Given the description of an element on the screen output the (x, y) to click on. 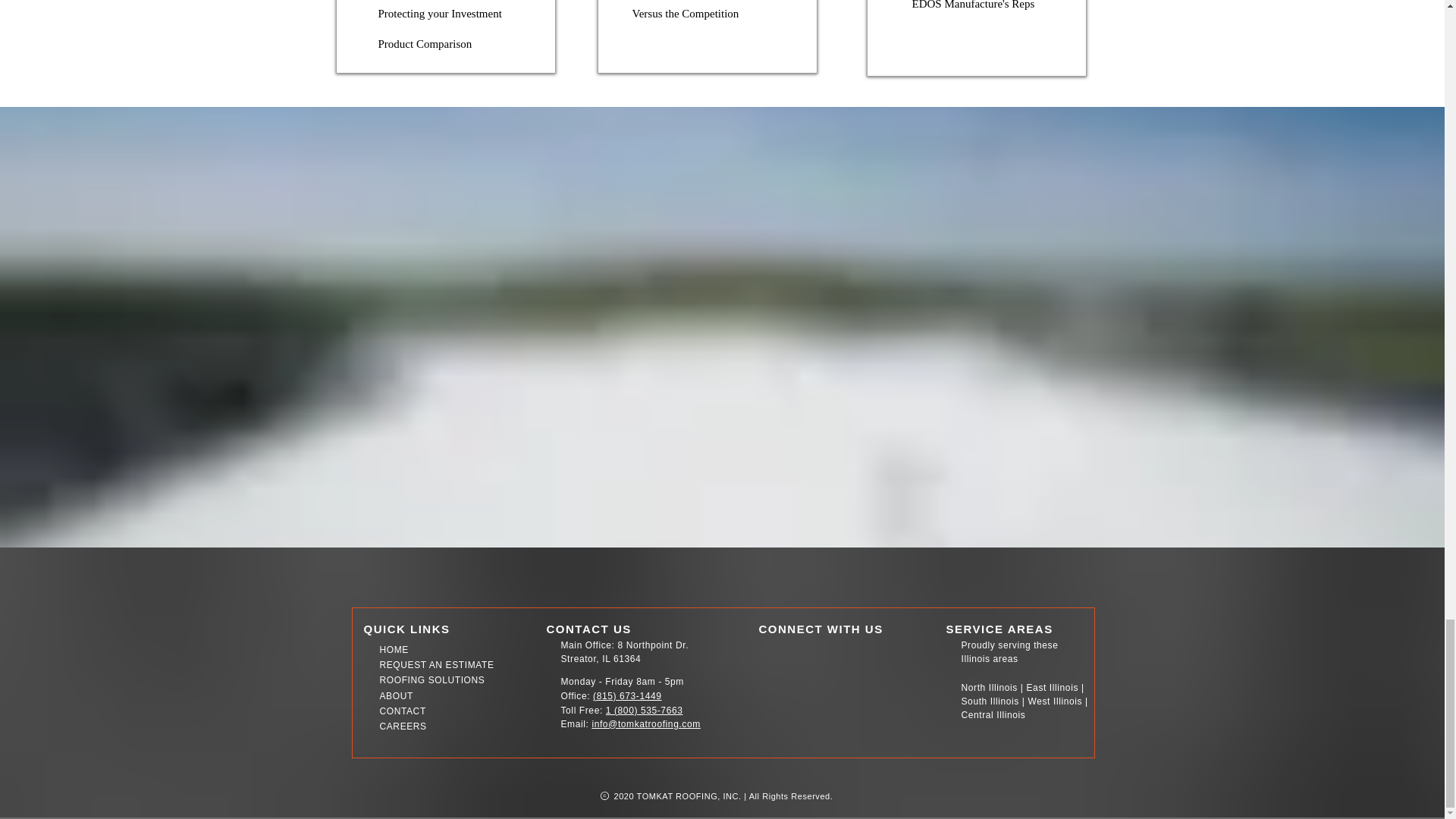
CAREERS (402, 726)
CONTACT (401, 710)
ROOFING SOLUTIONS (431, 679)
REQUEST AN ESTIMATE (435, 665)
HOME (392, 649)
ABOUT (395, 696)
